Given the description of an element on the screen output the (x, y) to click on. 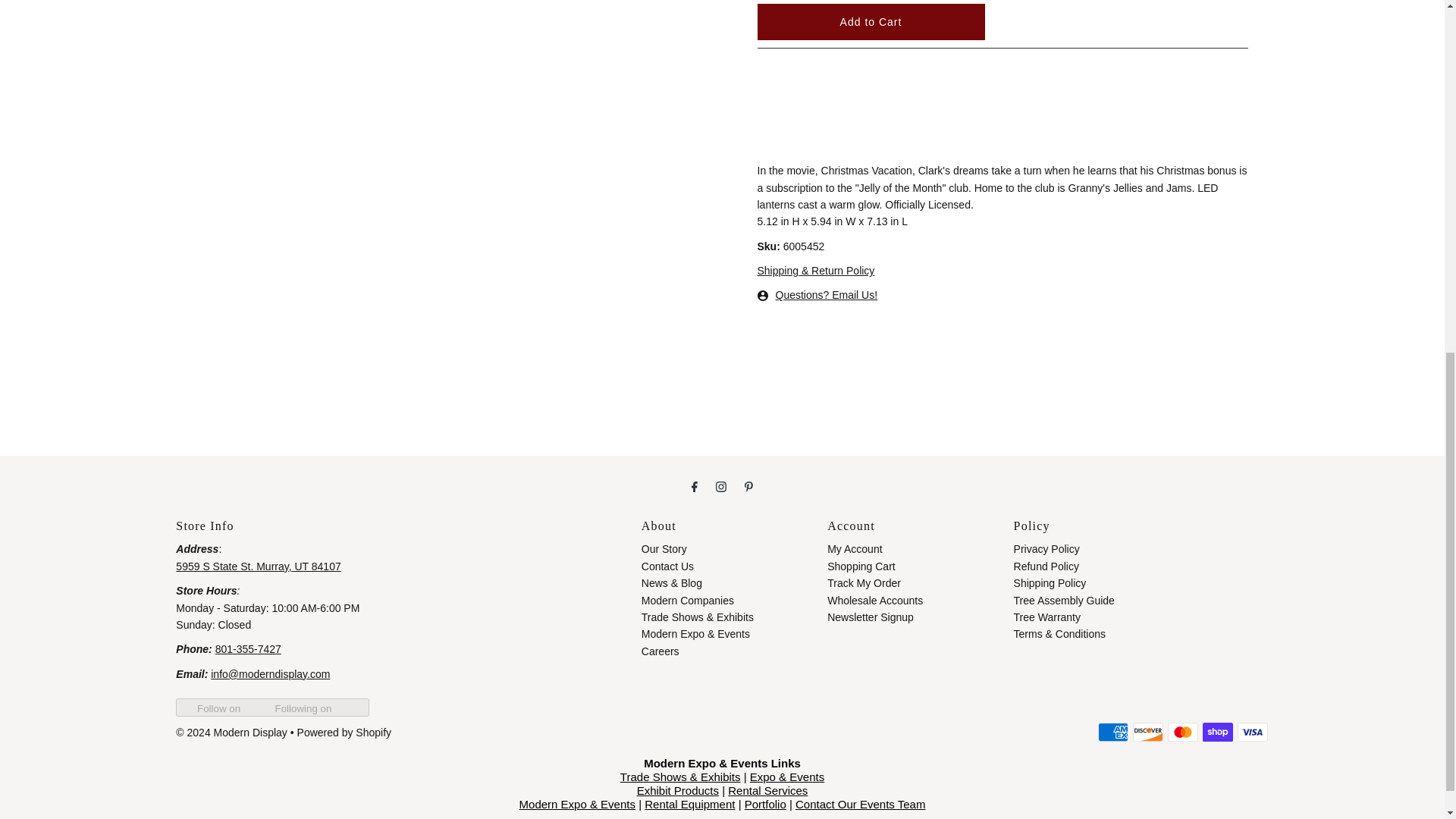
Add to Cart (870, 22)
